Given the description of an element on the screen output the (x, y) to click on. 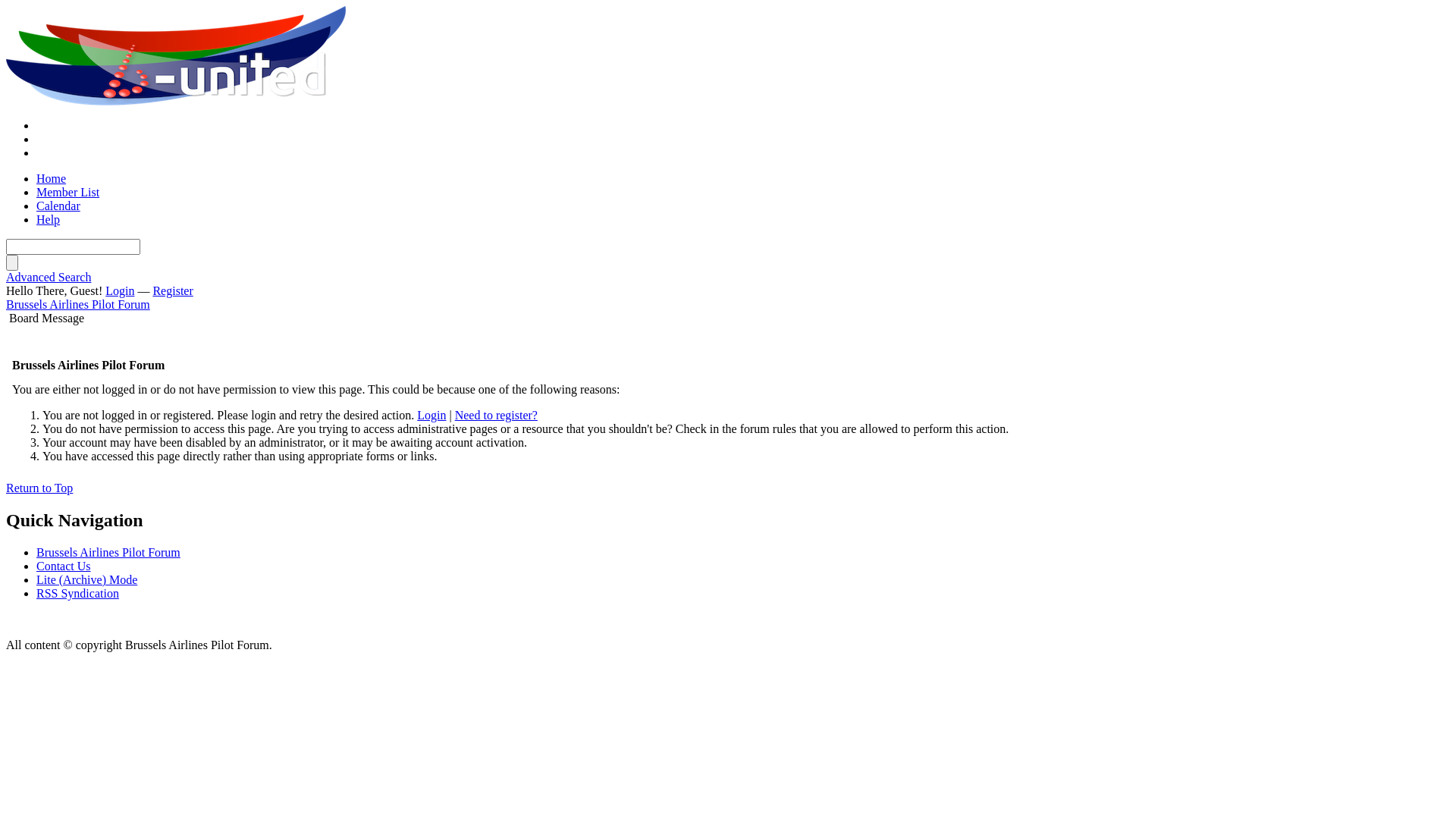
Calendar Element type: text (58, 205)
Login Element type: text (119, 290)
Advanced Search Element type: text (48, 276)
Contact Us Element type: text (63, 565)
Register Element type: text (172, 290)
Brussels Airlines Pilot Forum Element type: text (108, 552)
Member List Element type: text (67, 191)
Need to register? Element type: text (496, 414)
Brussels Airlines Pilot Forum Element type: hover (176, 56)
Enter your search keywords Element type: hover (73, 246)
Help Element type: text (47, 219)
Return to Top Element type: text (39, 487)
RSS Syndication Element type: text (77, 592)
Lite (Archive) Mode Element type: text (86, 579)
Login Element type: text (431, 414)
Brussels Airlines Pilot Forum Element type: text (78, 304)
Home Element type: text (50, 178)
